Given the description of an element on the screen output the (x, y) to click on. 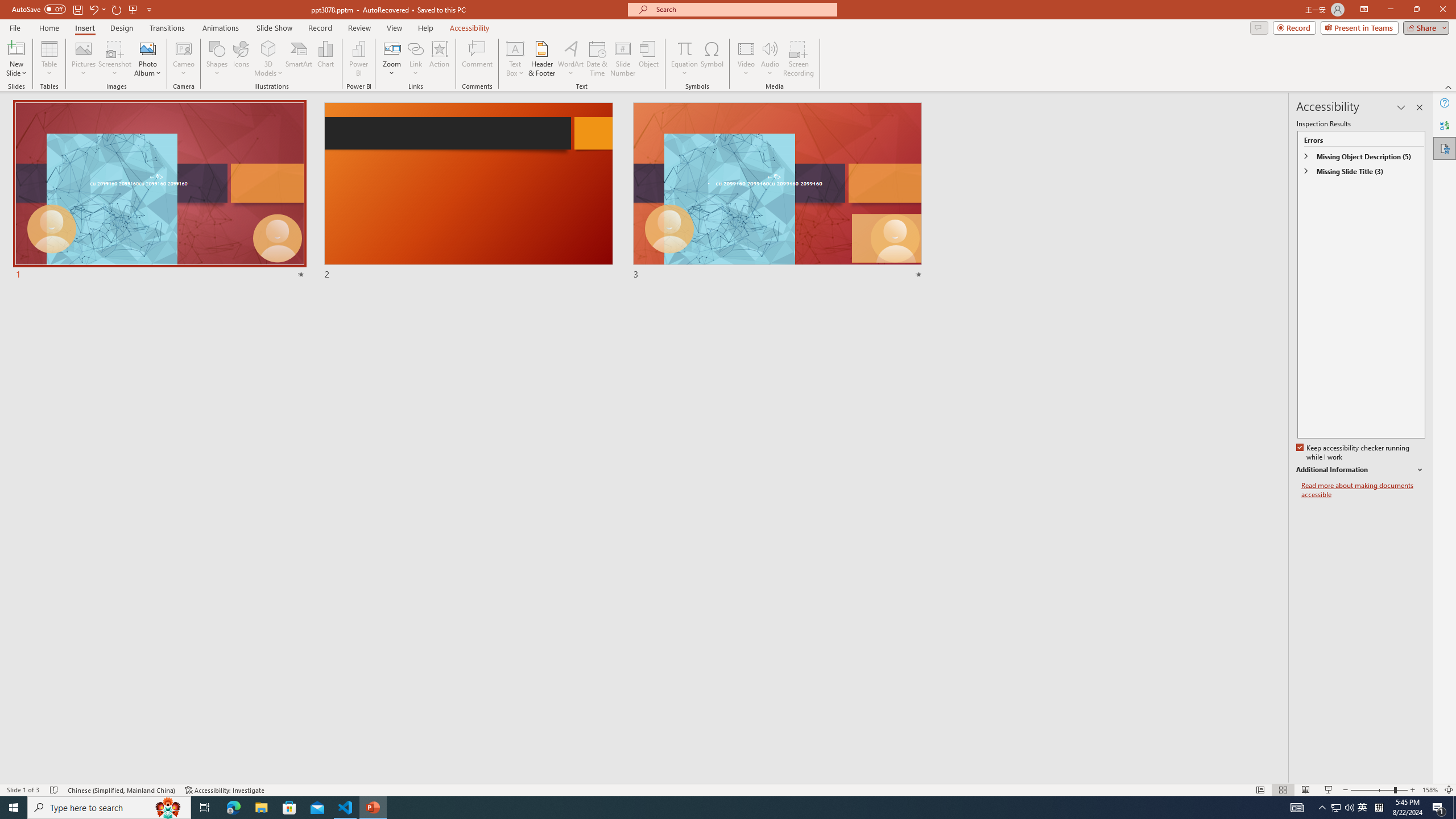
Comment (476, 58)
Icons (240, 58)
Action (439, 58)
WordArt (570, 58)
Keep accessibility checker running while I work (1353, 452)
Photo Album... (147, 58)
SmartArt... (298, 58)
Date & Time... (596, 58)
Chart... (325, 58)
